Given the description of an element on the screen output the (x, y) to click on. 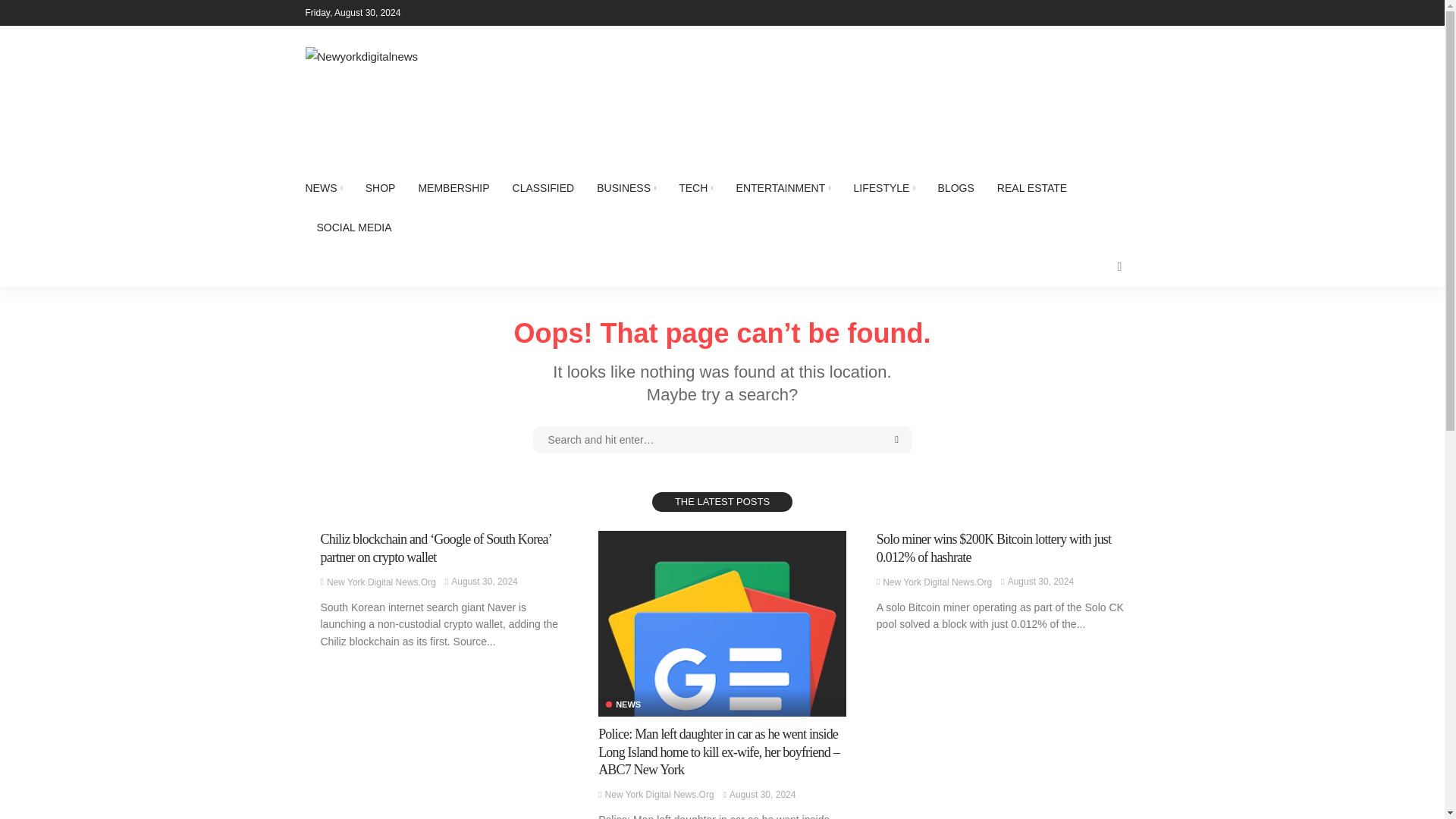
News (622, 705)
search for: (721, 439)
search (1118, 266)
